Given the description of an element on the screen output the (x, y) to click on. 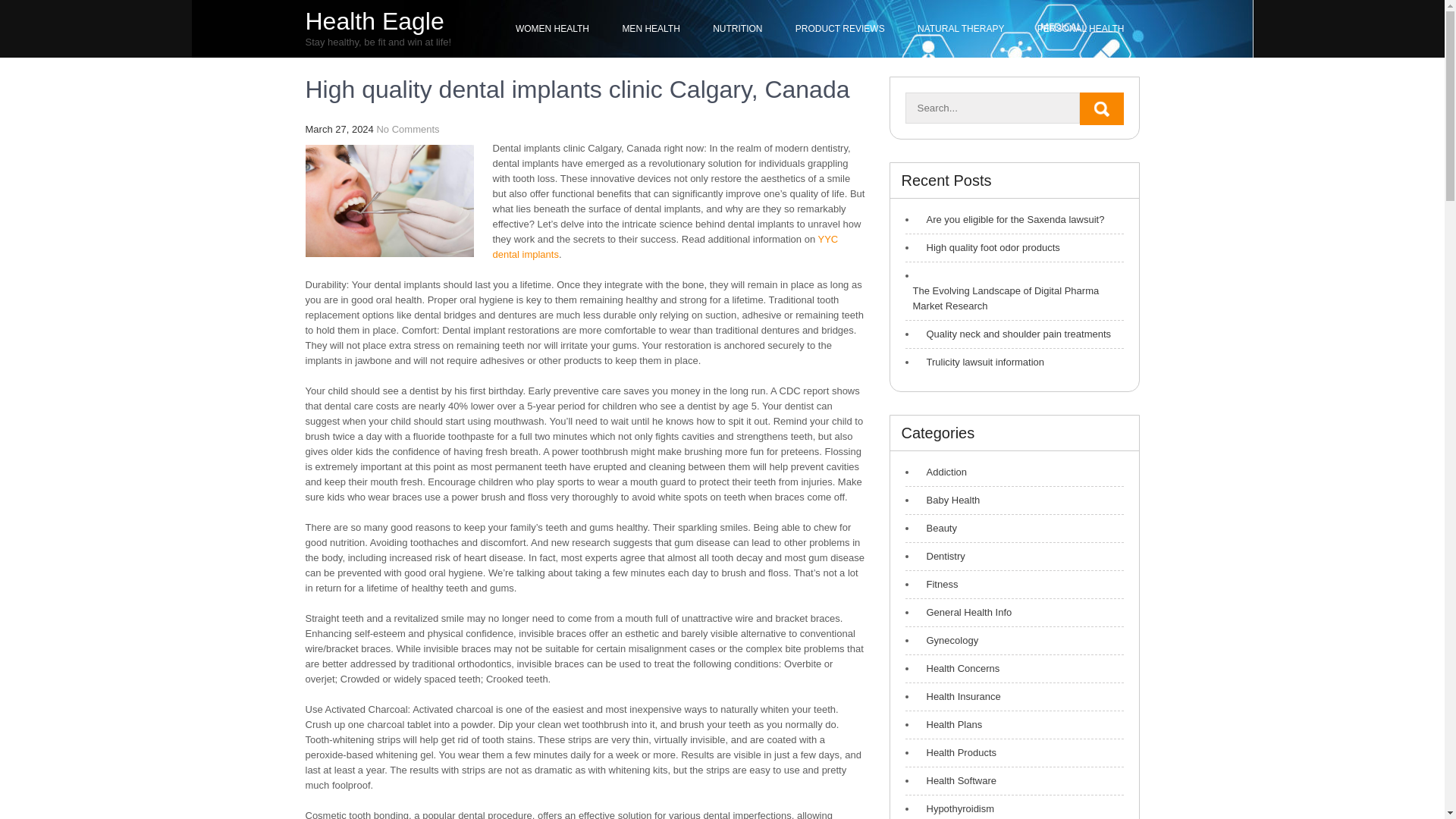
YYC dental implants (665, 246)
Beauty (937, 528)
Health Insurance (959, 696)
Health Eagle (374, 21)
NATURAL THERAPY (960, 28)
Gynecology (948, 640)
Health Products (957, 752)
Quality neck and shoulder pain treatments (1015, 334)
MEN HEALTH (650, 28)
High quality foot odor products (988, 247)
PERSONAL HEALTH (1081, 28)
Search (1102, 108)
The Evolving Landscape of Digital Pharma Market Research (1014, 298)
WOMEN HEALTH (552, 28)
Addiction (942, 472)
